Given the description of an element on the screen output the (x, y) to click on. 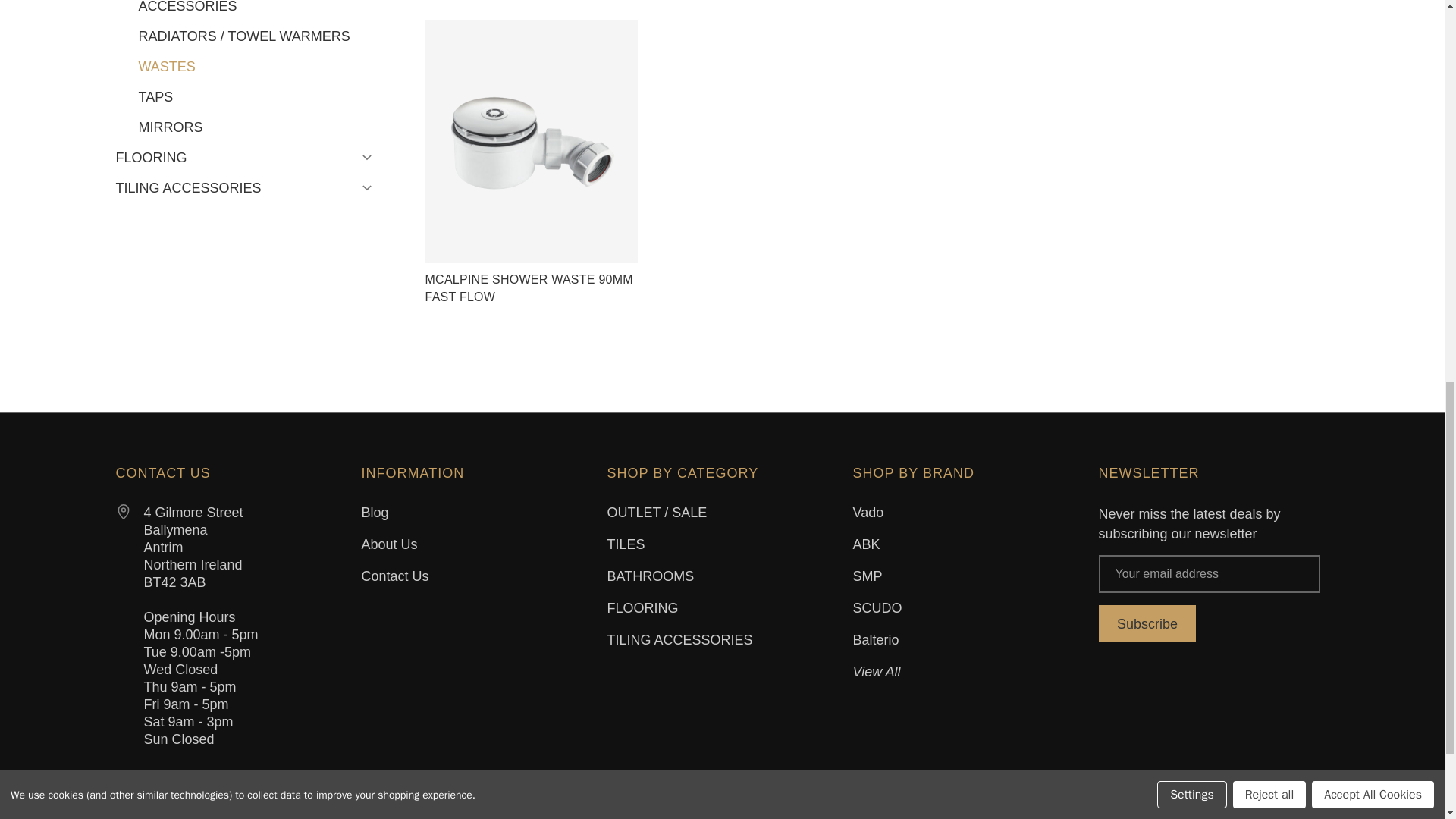
Subscribe (1146, 623)
